Given the description of an element on the screen output the (x, y) to click on. 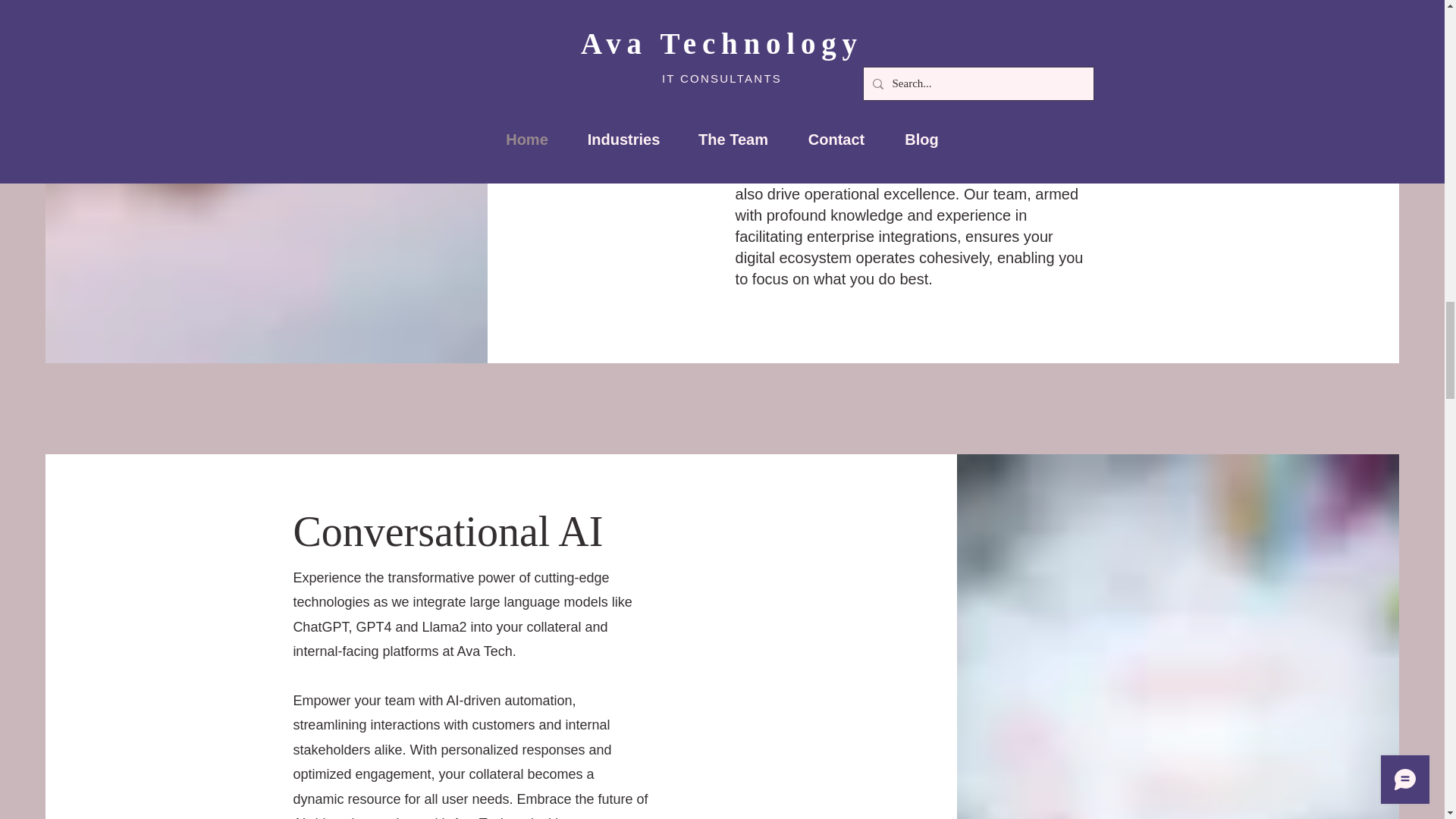
Silver.png (789, 302)
